Given the description of an element on the screen output the (x, y) to click on. 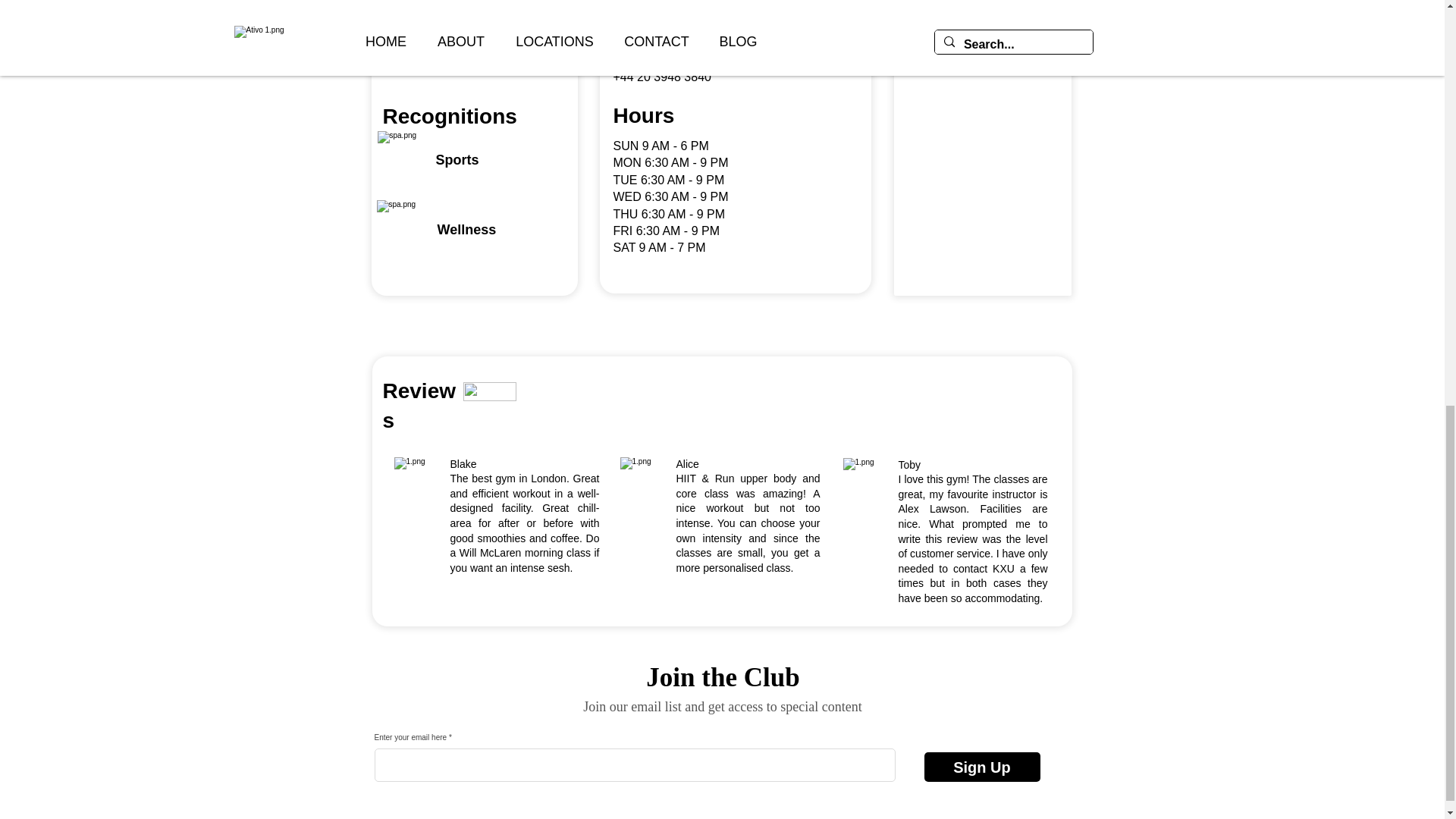
sport.png (406, 160)
Wellness Advocate.png (405, 229)
3.png (503, 48)
Sign Up (981, 767)
Website  (635, 60)
4.png (408, 48)
